Given the description of an element on the screen output the (x, y) to click on. 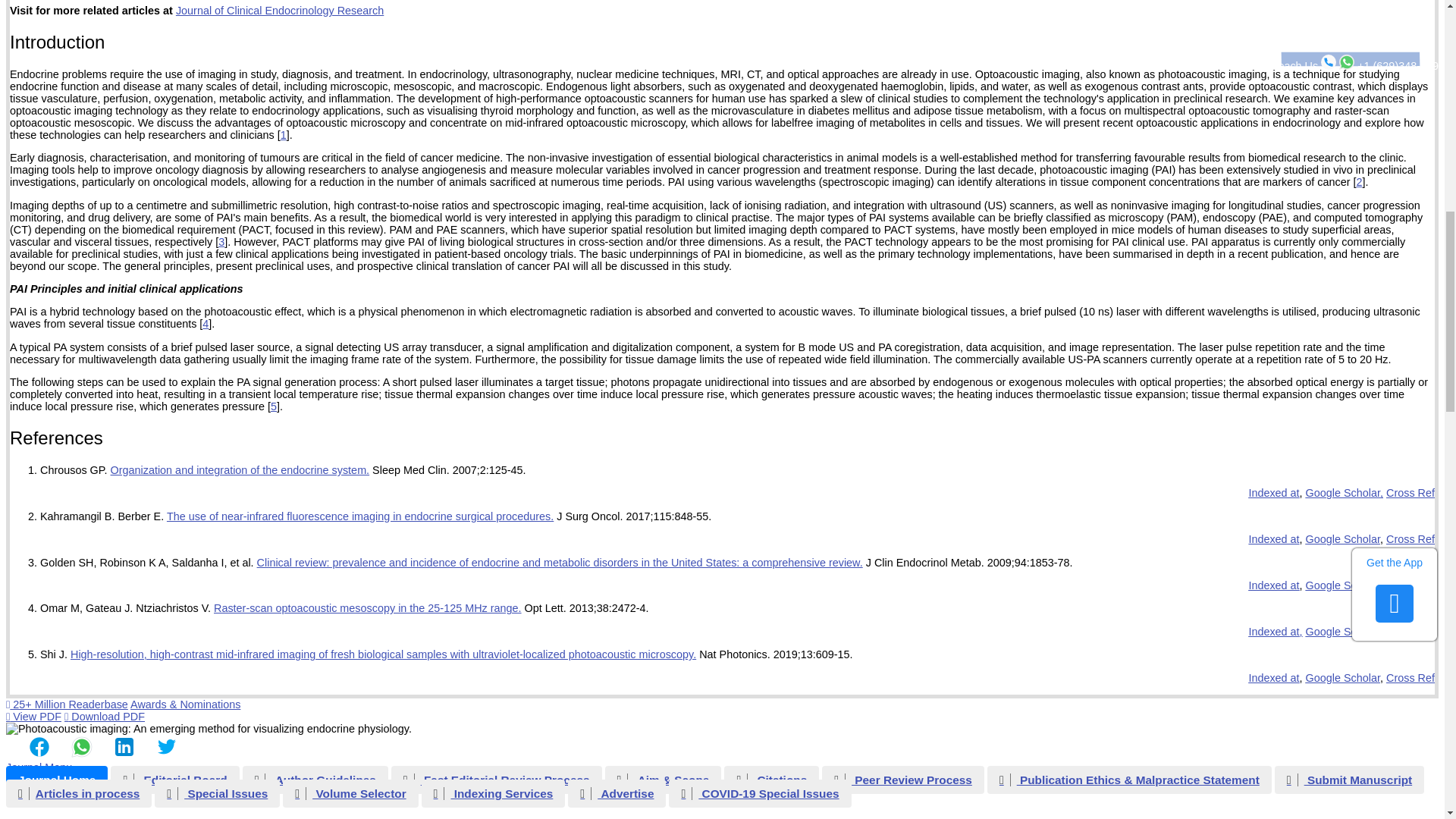
Organization and integration of the endocrine system. (239, 469)
Google Scholar (1343, 539)
QR (208, 728)
Journal of Clinical Endocrinology Research (280, 10)
Download PDF (104, 716)
View PDF (33, 716)
Google Scholar, (1344, 585)
Raster-scan optoacoustic mesoscopy in the 25-125 MHz range. (367, 607)
Indexed at (1272, 585)
Google Scholar, (1344, 492)
Indexed at (1272, 492)
Indexed at (1272, 539)
Journal of Clinical Endocrinology Research (280, 10)
